Given the description of an element on the screen output the (x, y) to click on. 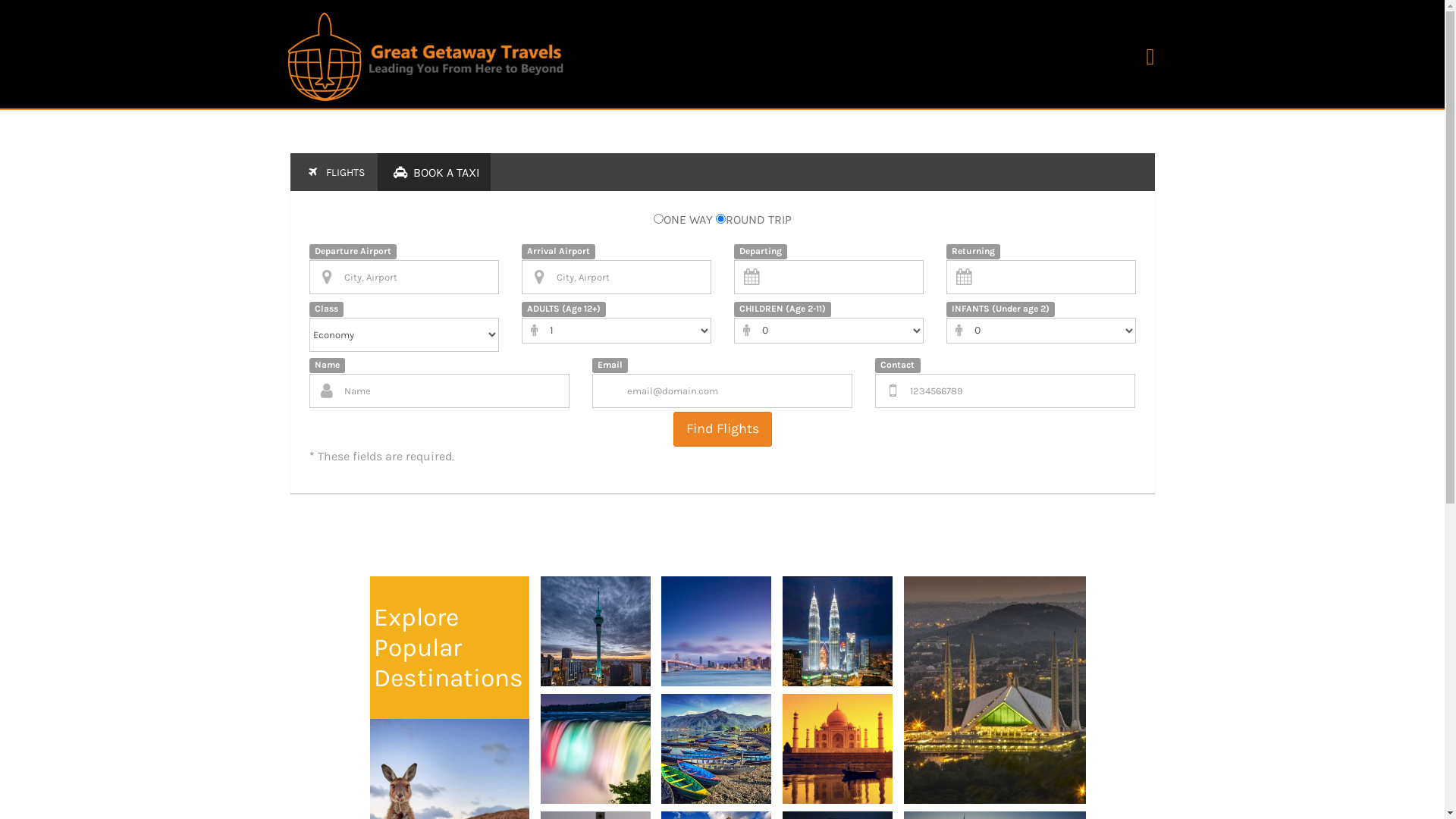
FLIGHTS Element type: text (332, 172)
BOOK A TAXI Element type: text (433, 172)
Find Flights Element type: text (722, 428)
